Given the description of an element on the screen output the (x, y) to click on. 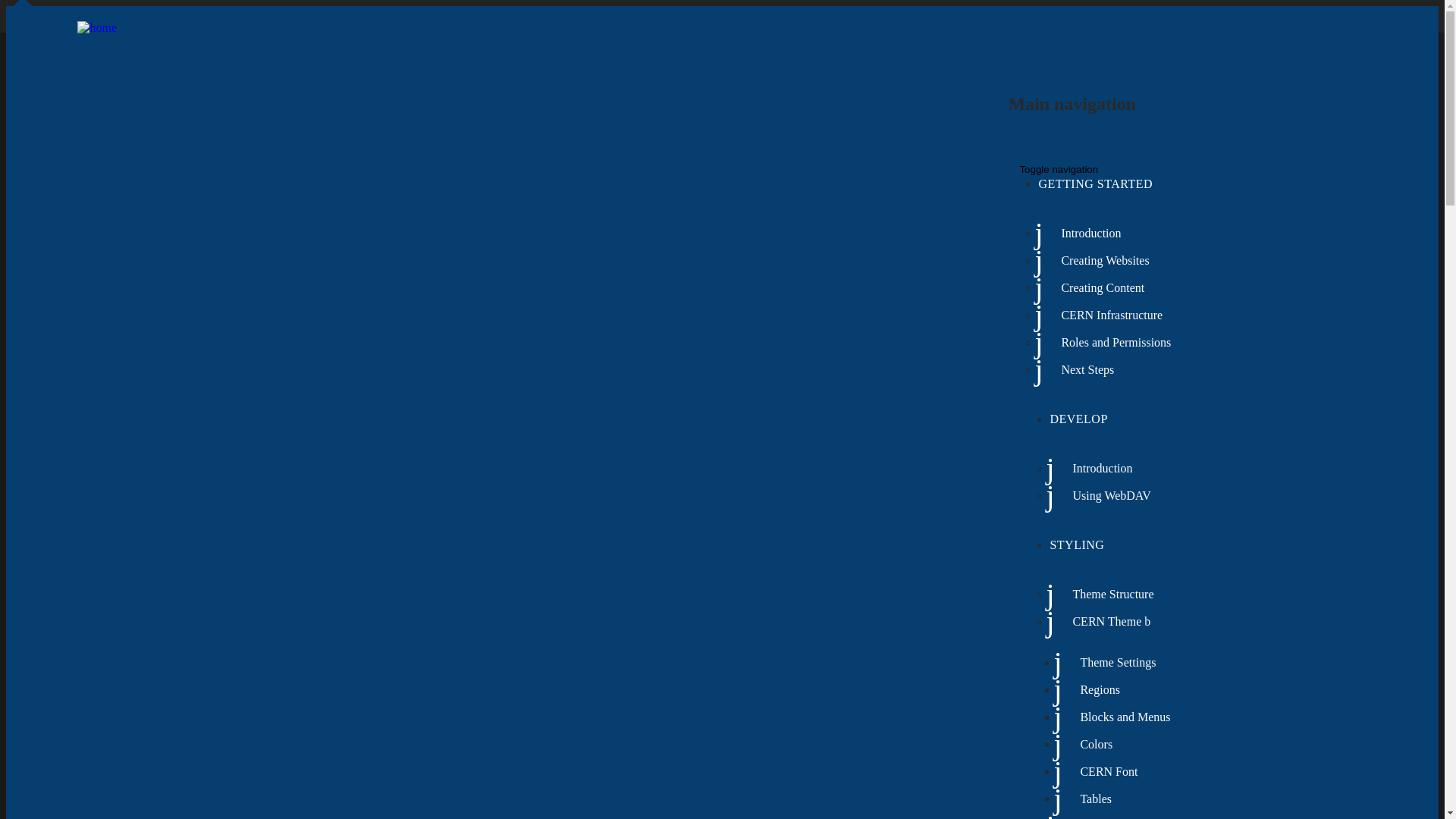
Theme Settings Element type: text (1109, 669)
Using WebDAV Element type: text (1103, 502)
CERN Font Element type: text (1100, 778)
Theme Structure Element type: text (1105, 601)
Sign in Element type: text (1301, 14)
Skip to main content Element type: text (6, 6)
Next Steps Element type: text (1079, 376)
CERN Theme Element type: text (1099, 628)
Creating Content Element type: text (1094, 294)
CERN Accelerating science Element type: text (133, 14)
Blocks and Menus Element type: text (1117, 723)
Directory Element type: text (1351, 14)
Roles and Permissions Element type: text (1107, 349)
Creating Websites Element type: text (1096, 267)
CERN Infrastructure Element type: text (1103, 321)
Toggle navigation Element type: text (1058, 169)
Regions Element type: text (1091, 696)
GETTING STARTED Element type: text (1095, 183)
Colors Element type: text (1088, 751)
STYLING Element type: text (1076, 544)
Home Element type: hover (96, 27)
DEVELOP Element type: text (1078, 418)
Introduction Element type: text (1094, 475)
Introduction Element type: text (1082, 240)
